Given the description of an element on the screen output the (x, y) to click on. 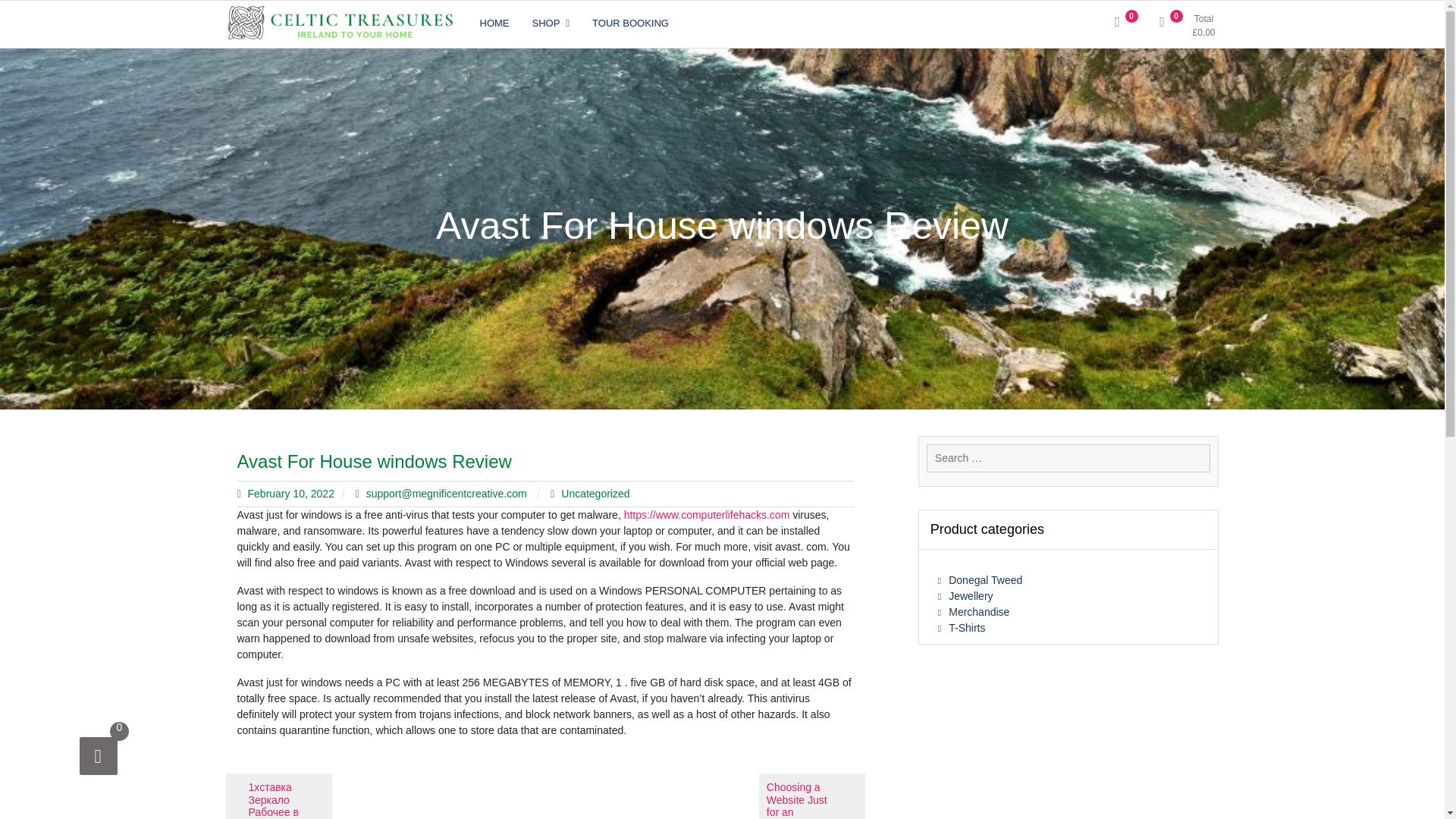
Merchandise (979, 612)
Celtic Treasures (313, 64)
T-Shirts (967, 627)
Uncategorized (594, 493)
Donegal Tweed (985, 580)
TOUR BOOKING (629, 23)
SHOP (549, 23)
Choosing a Website Just for an International Bride (811, 796)
Search (169, 13)
Jewellery (970, 595)
